Given the description of an element on the screen output the (x, y) to click on. 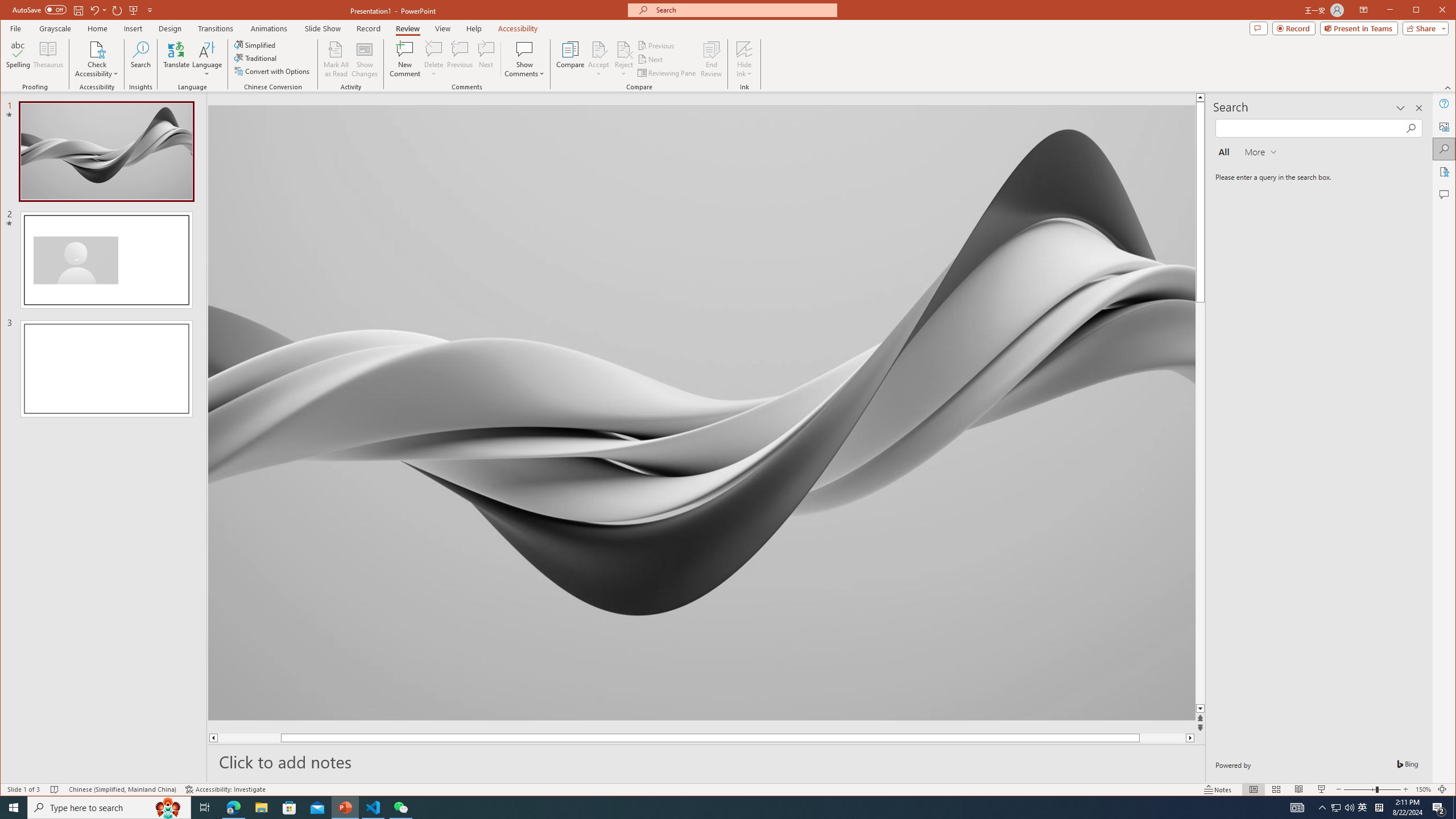
Grayscale (55, 28)
Simplified (255, 44)
